Given the description of an element on the screen output the (x, y) to click on. 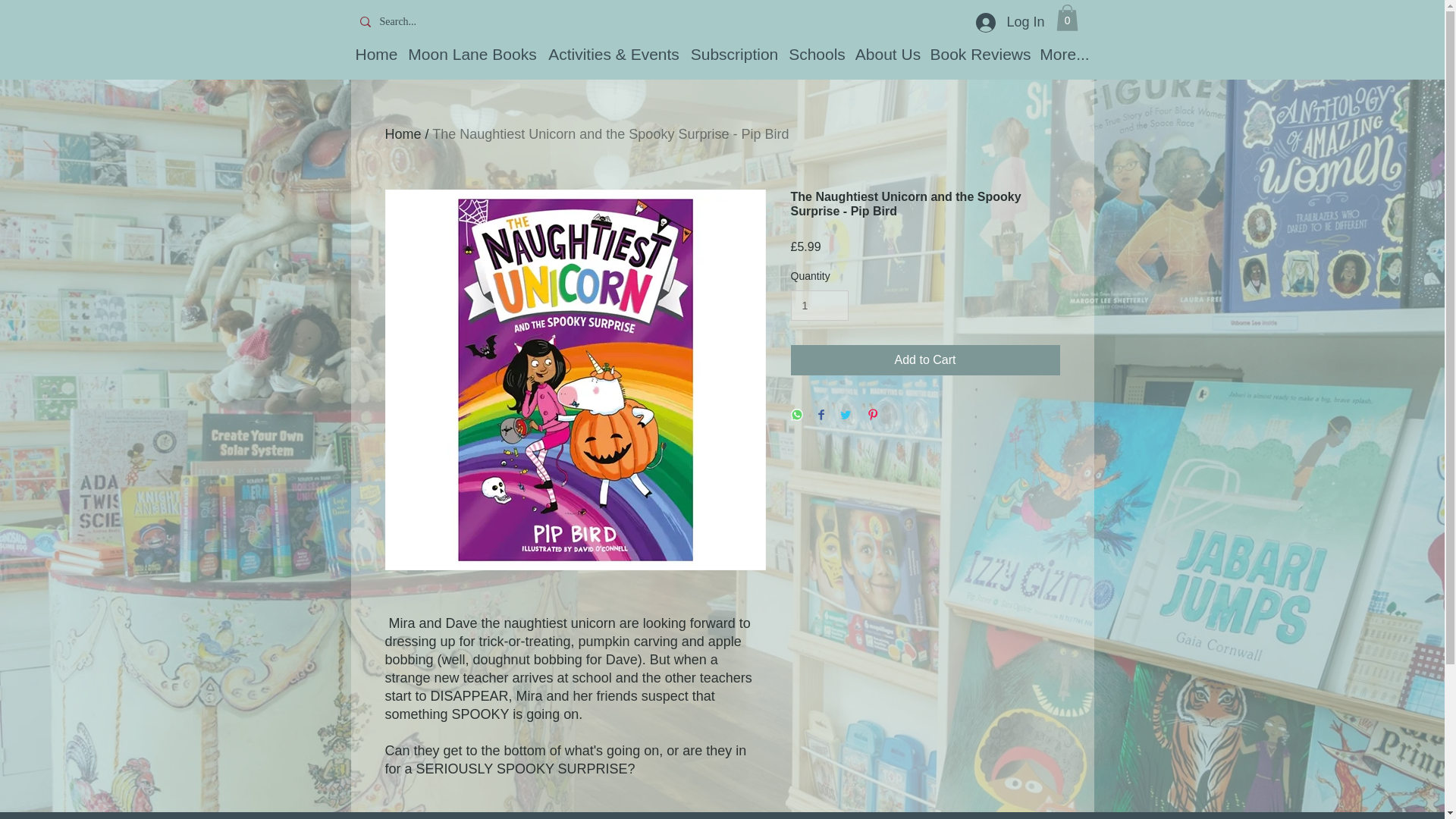
About Us (887, 53)
The Naughtiest Unicorn and the Spooky Surprise - Pip Bird (610, 133)
Moon Lane Books (472, 53)
Home (403, 133)
1 (818, 305)
Add to Cart (924, 359)
Log In (1009, 22)
Book Reviews (981, 53)
Home (376, 53)
Subscription (733, 53)
Schools (816, 53)
